Given the description of an element on the screen output the (x, y) to click on. 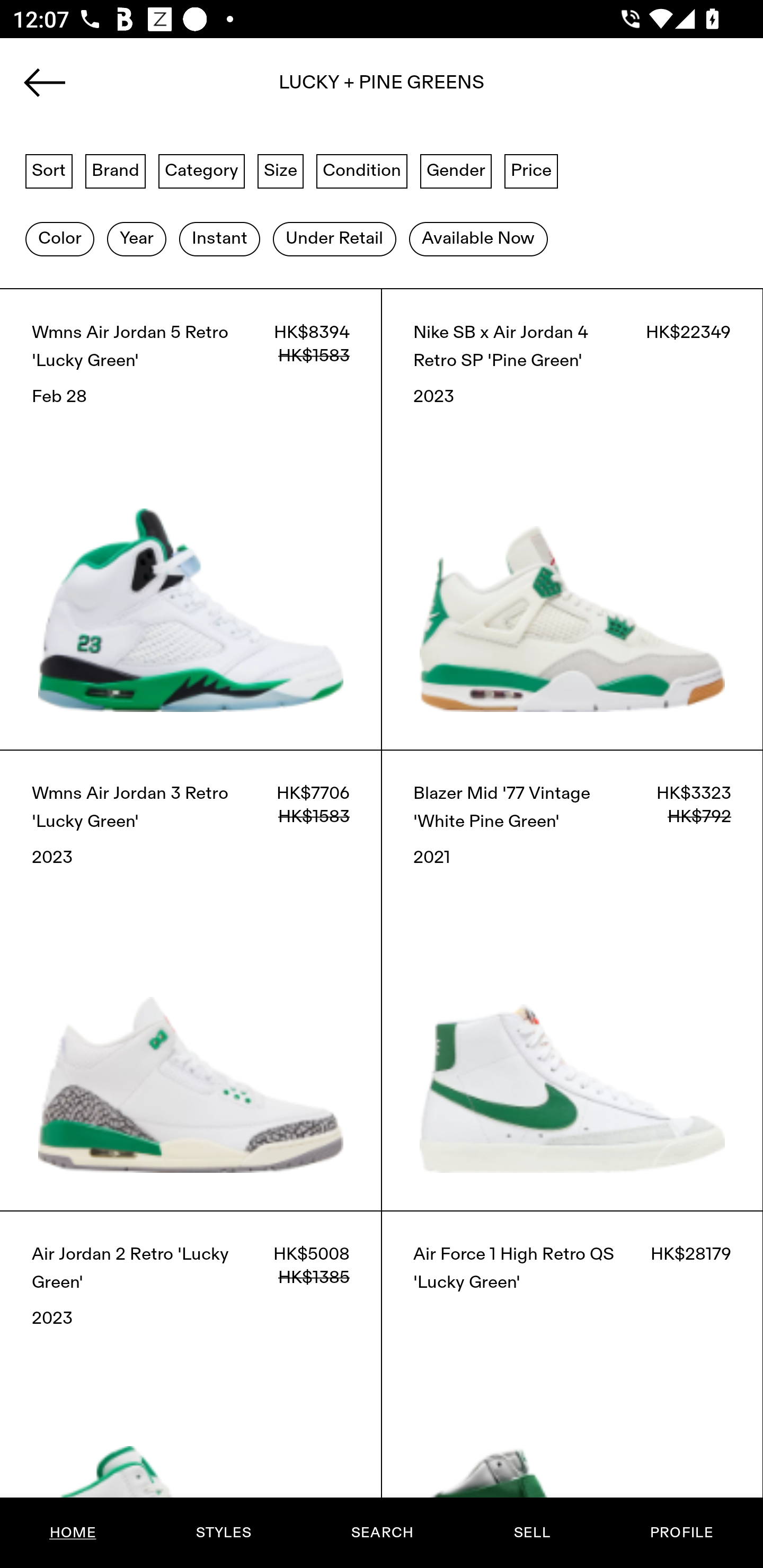
Search (381, 88)
Sort (48, 170)
Brand (115, 170)
Category (201, 170)
Size (280, 170)
Condition (361, 170)
Gender (455, 170)
Price (530, 170)
Color (59, 239)
Year (136, 239)
Instant (219, 239)
Under Retail (334, 239)
Available Now (477, 239)
Air Force 1 High Retro QS 'Lucky Green' HK$28179 (572, 1389)
HOME (72, 1532)
STYLES (222, 1532)
SEARCH (381, 1532)
SELL (531, 1532)
PROFILE (681, 1532)
